Given the description of an element on the screen output the (x, y) to click on. 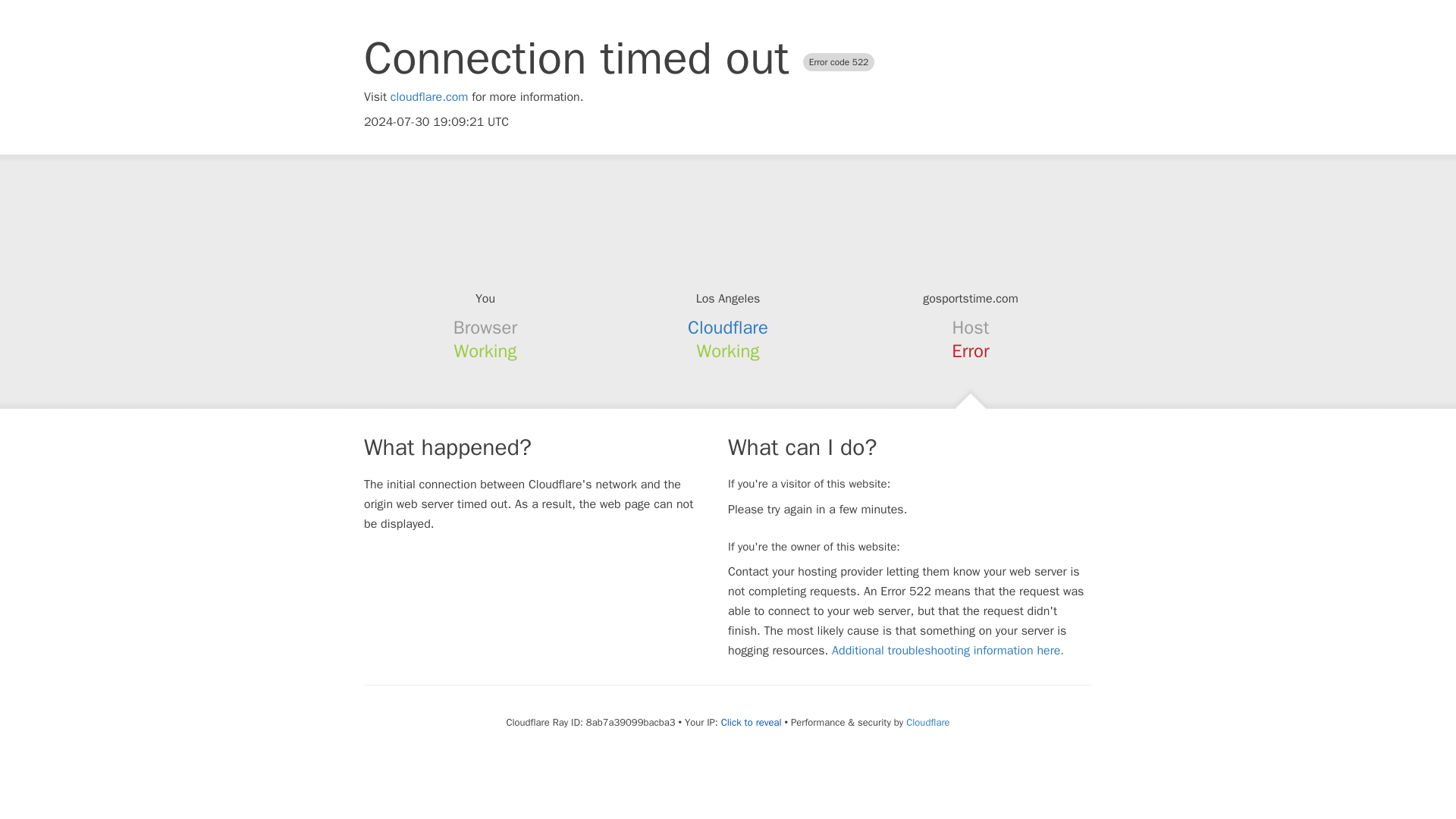
Cloudflare (727, 327)
Cloudflare (927, 721)
cloudflare.com (429, 96)
Additional troubleshooting information here. (947, 650)
Click to reveal (750, 722)
